Given the description of an element on the screen output the (x, y) to click on. 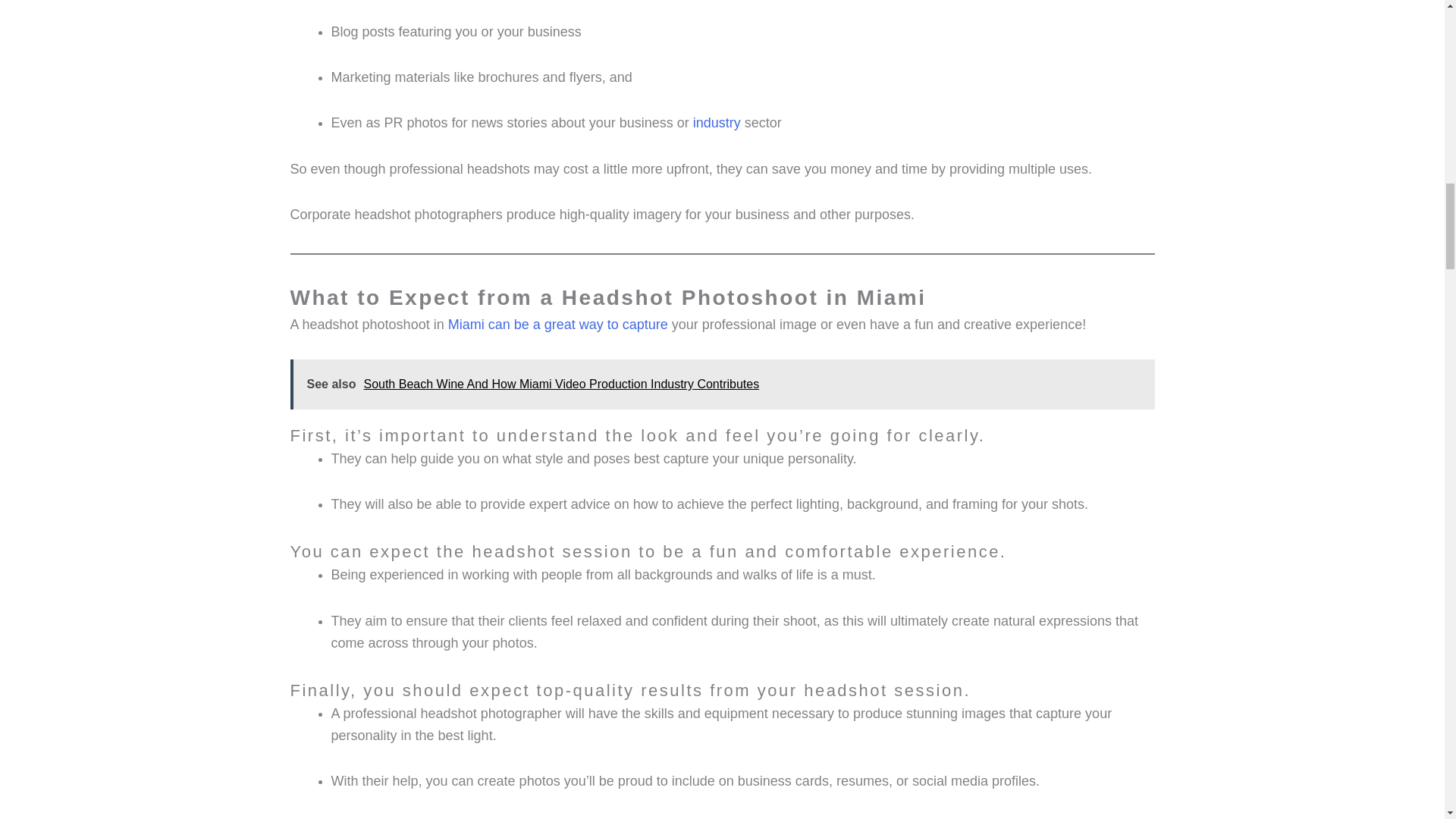
Miami can be a great way to capture (558, 324)
industry (717, 122)
4 Reasons To Use Headshot Photography Miami 5 (1040, 55)
4 Reasons To Use Headshot Photography Miami 7 (1040, 817)
